Given the description of an element on the screen output the (x, y) to click on. 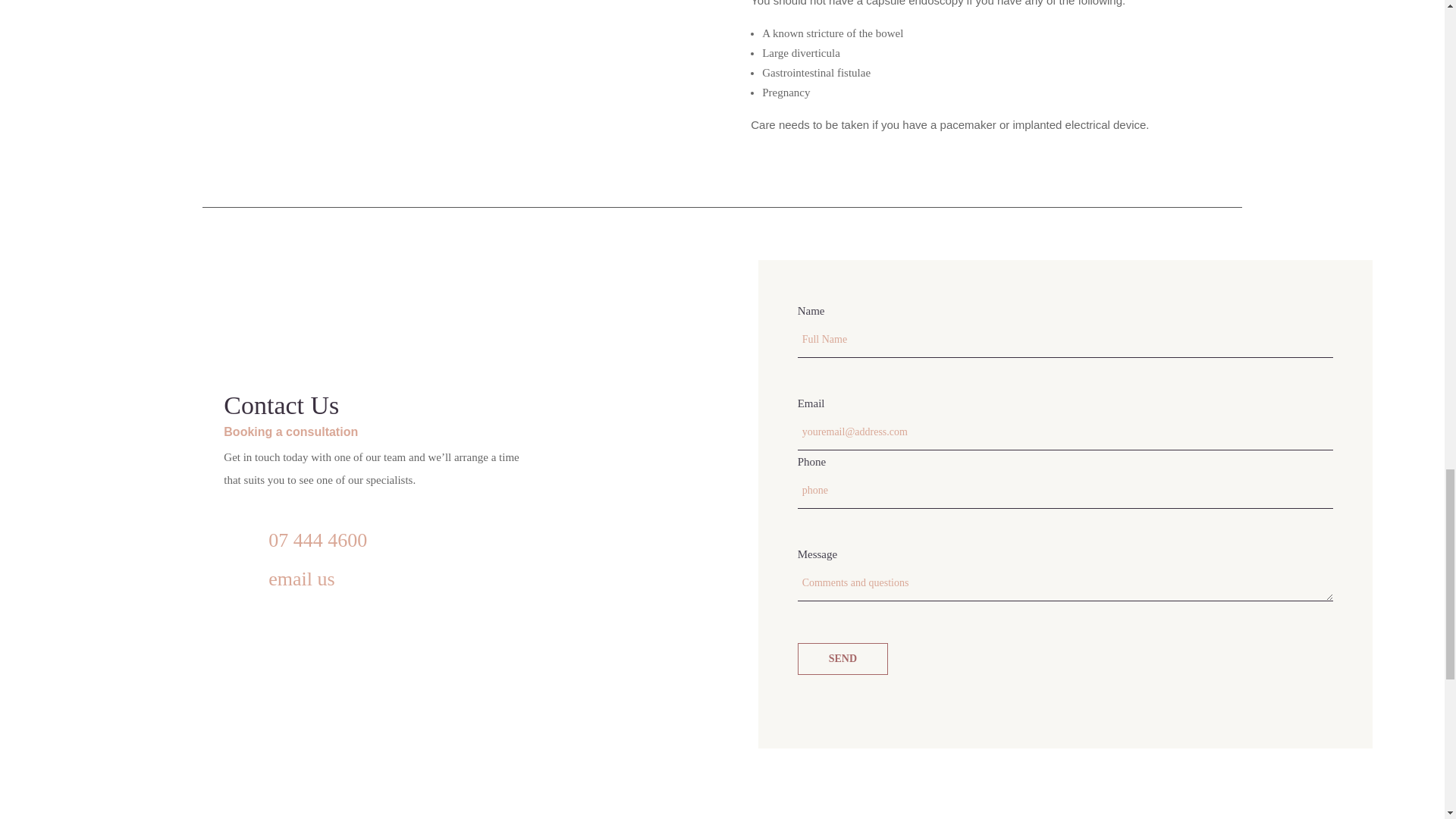
Send (842, 658)
